Given the description of an element on the screen output the (x, y) to click on. 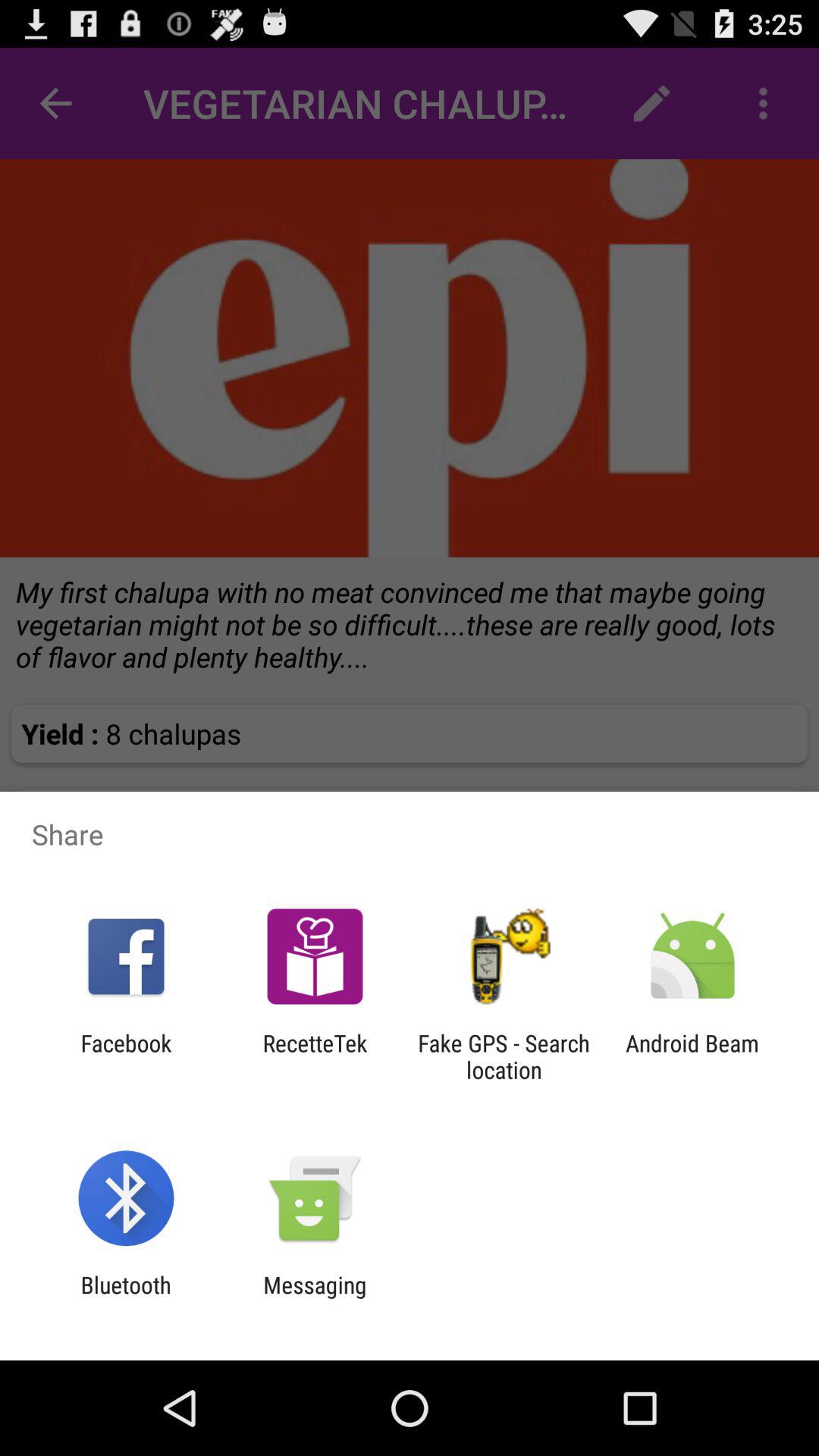
select messaging app (314, 1298)
